Given the description of an element on the screen output the (x, y) to click on. 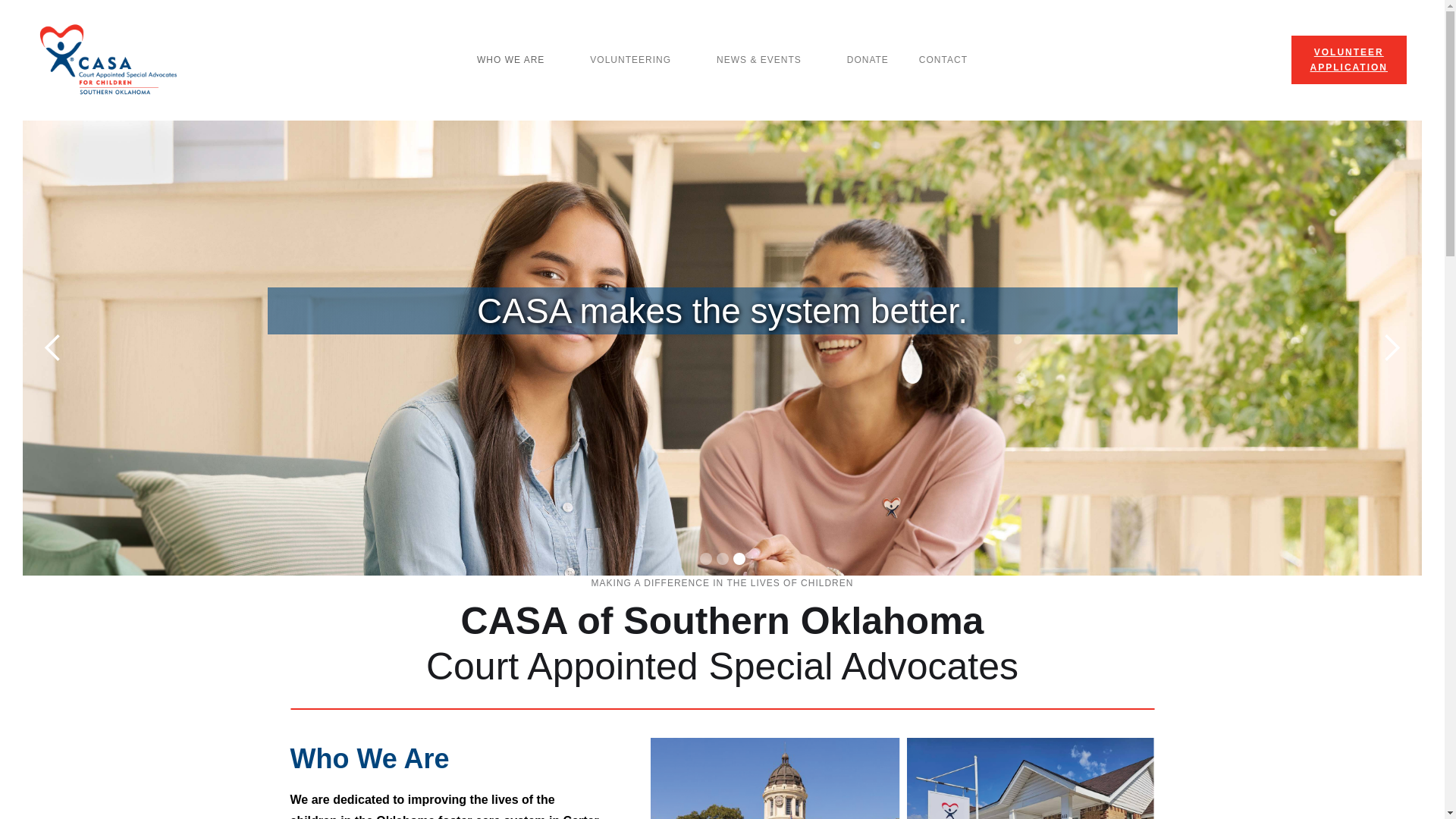
CONTACT (943, 59)
DONATE (1348, 60)
